Given the description of an element on the screen output the (x, y) to click on. 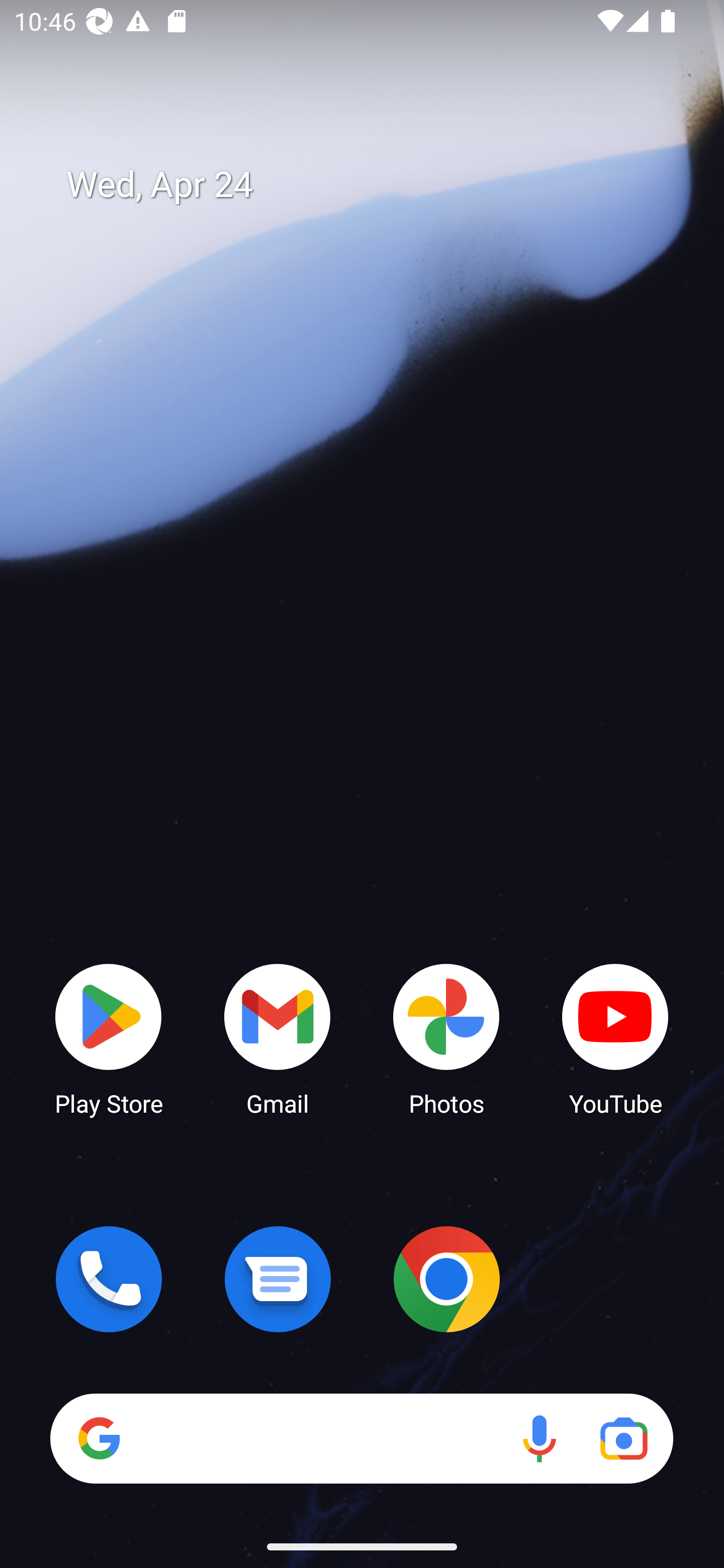
Wed, Apr 24 (375, 184)
Play Store (108, 1038)
Gmail (277, 1038)
Photos (445, 1038)
YouTube (615, 1038)
Phone (108, 1279)
Messages (277, 1279)
Chrome (446, 1279)
Search Voice search Google Lens (361, 1438)
Voice search (539, 1438)
Google Lens (623, 1438)
